Given the description of an element on the screen output the (x, y) to click on. 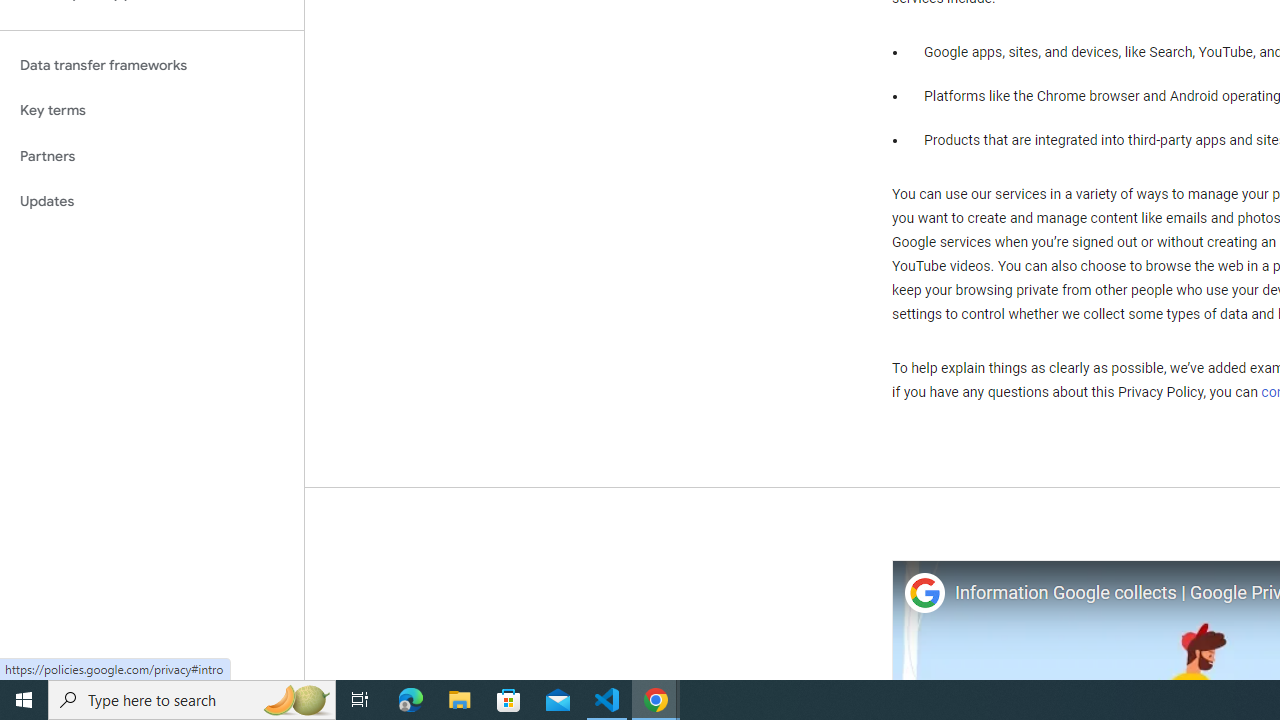
Photo image of Google (924, 593)
Partners (152, 156)
Data transfer frameworks (152, 65)
Key terms (152, 110)
